Given the description of an element on the screen output the (x, y) to click on. 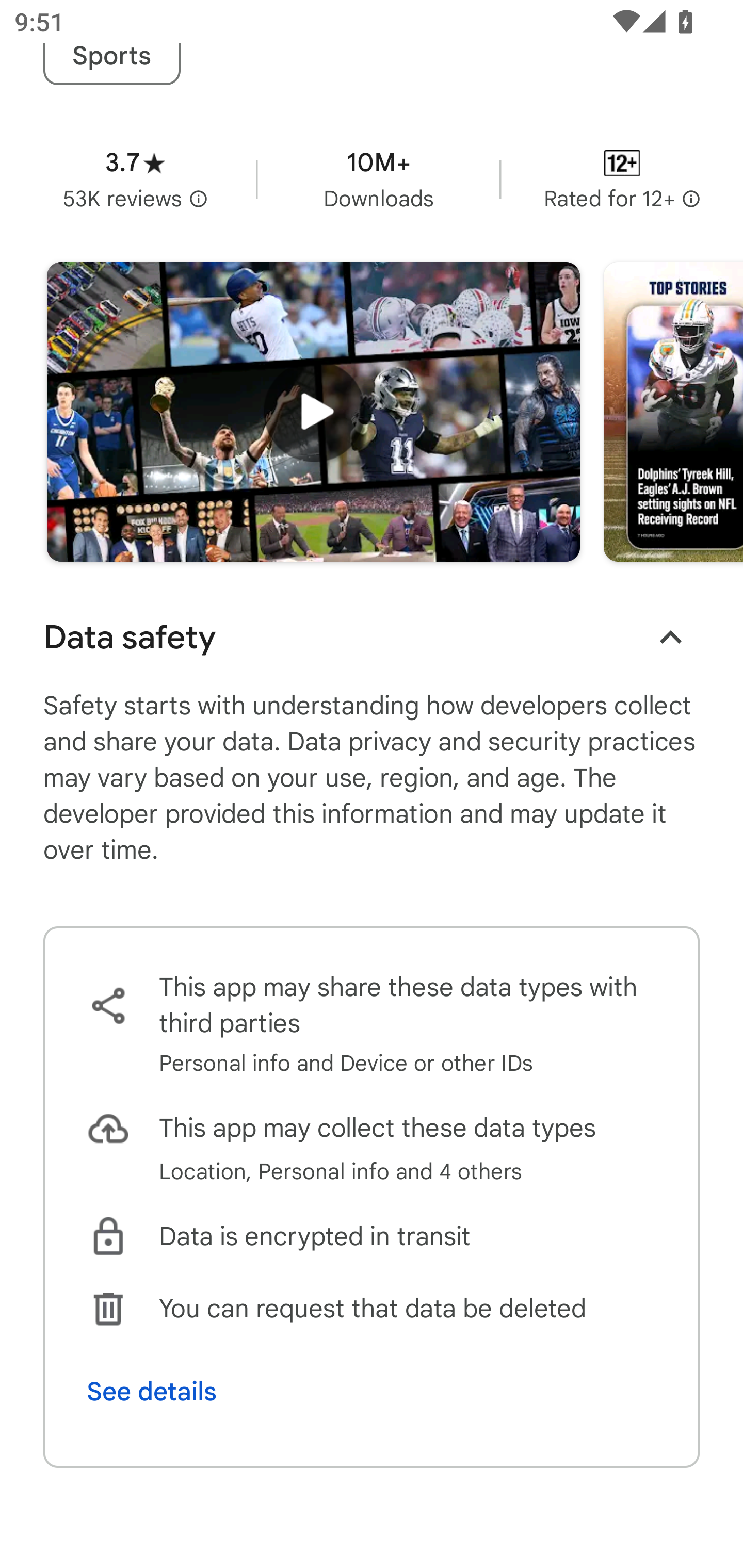
Average rating 3.7 stars in 53 thousand reviews (135, 178)
Content rating Rated for 12+ (622, 178)
Play trailer for "FOX Sports: Watch Live" (313, 411)
Data safety Collapse (371, 637)
Collapse (670, 637)
See details (151, 1391)
